Given the description of an element on the screen output the (x, y) to click on. 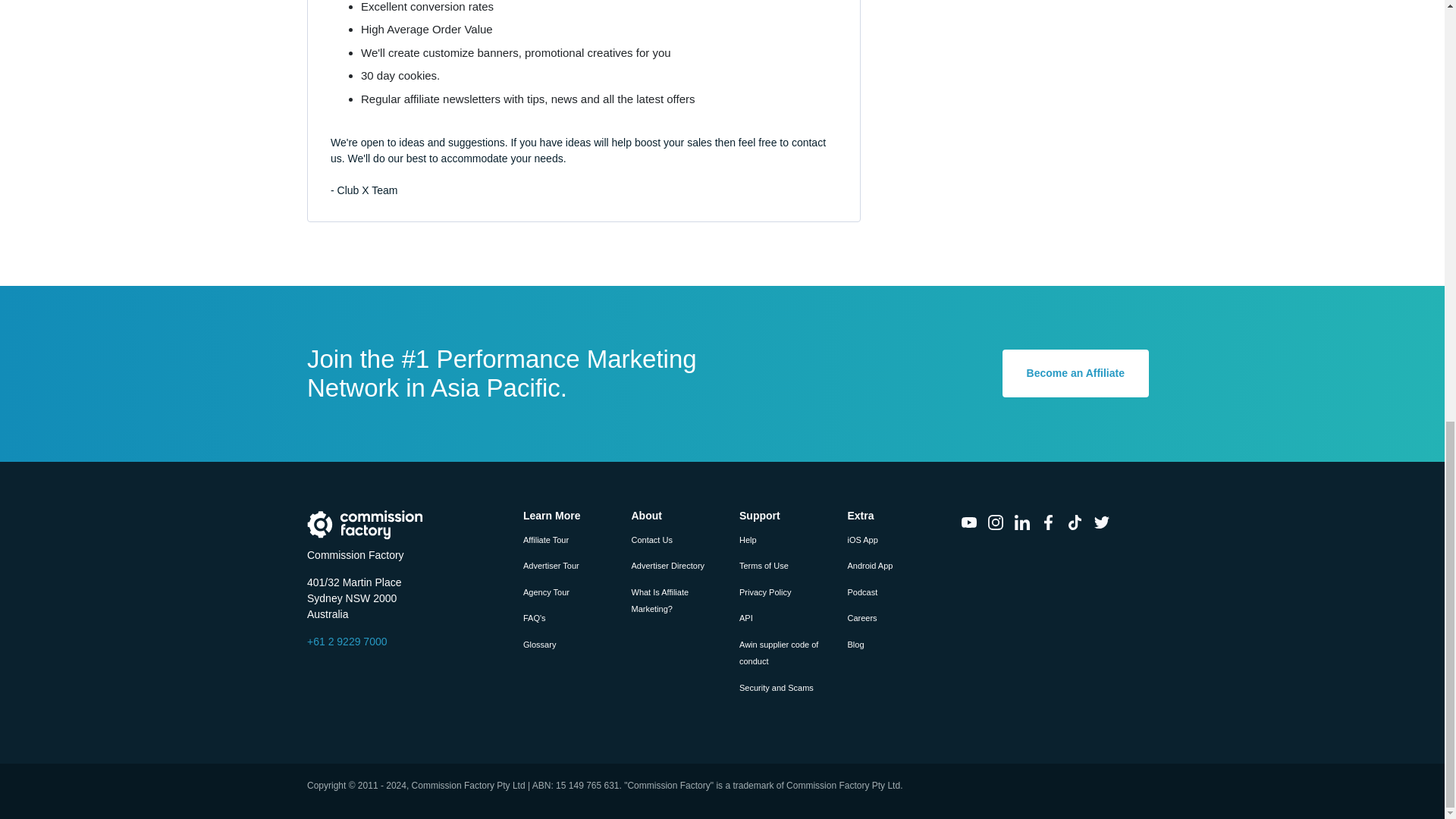
Become an Affiliate (1075, 373)
Affiliate Tour (545, 539)
Contact Us (650, 539)
Glossary (539, 644)
Commission Factory - Part of Awin (365, 524)
Advertiser Tour (550, 565)
Advertiser Directory (667, 565)
What Is Affiliate Marketing? (659, 601)
Agency Tour (545, 592)
FAQ's (534, 617)
Help (748, 539)
